Given the description of an element on the screen output the (x, y) to click on. 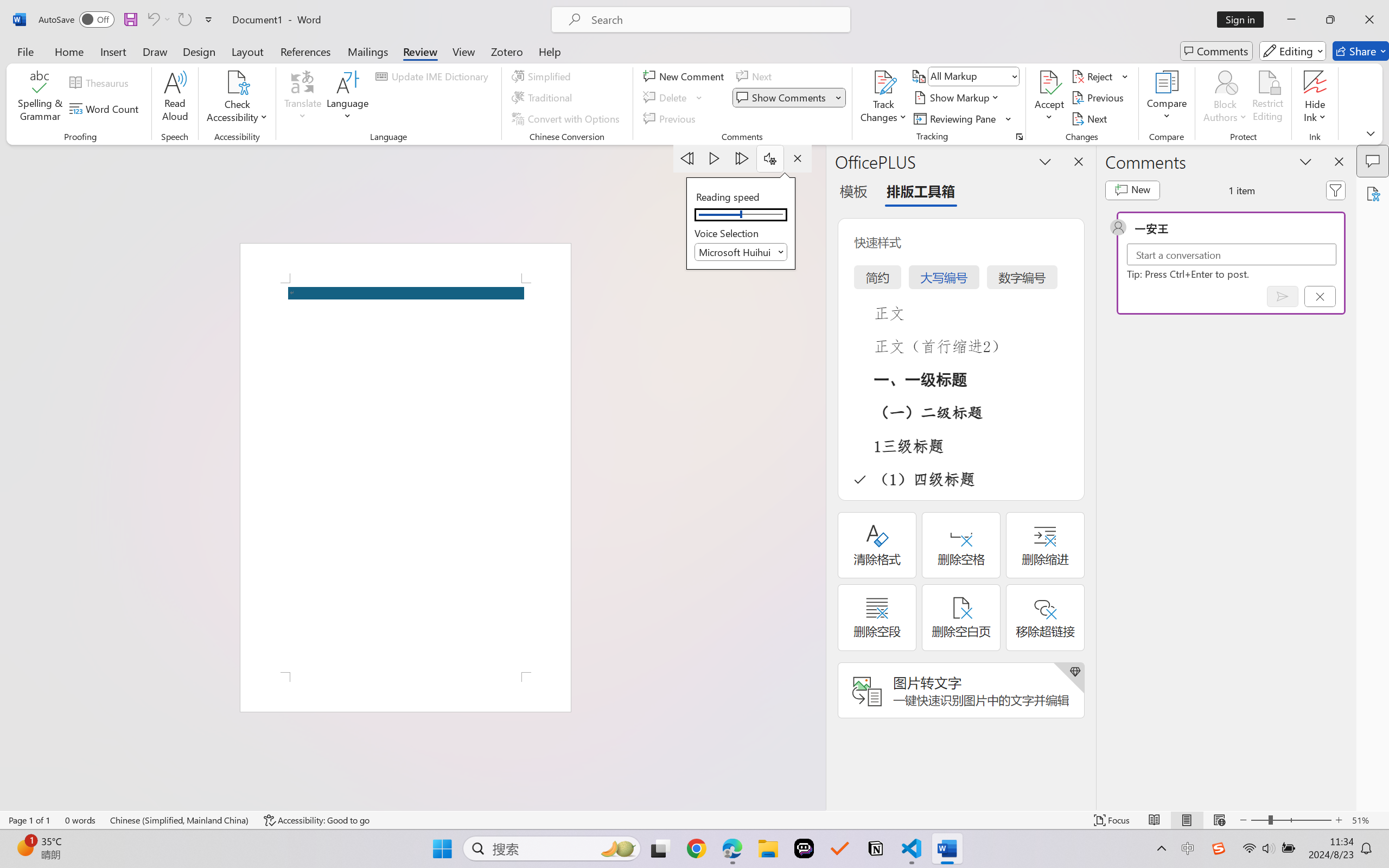
Restrict Editing (1267, 97)
Reviewing Pane (962, 118)
Sign in (1244, 19)
Translate (303, 97)
Page left (716, 214)
Undo Apply Quick Style Set (152, 19)
Language Chinese (Simplified, Mainland China) (179, 819)
